Given the description of an element on the screen output the (x, y) to click on. 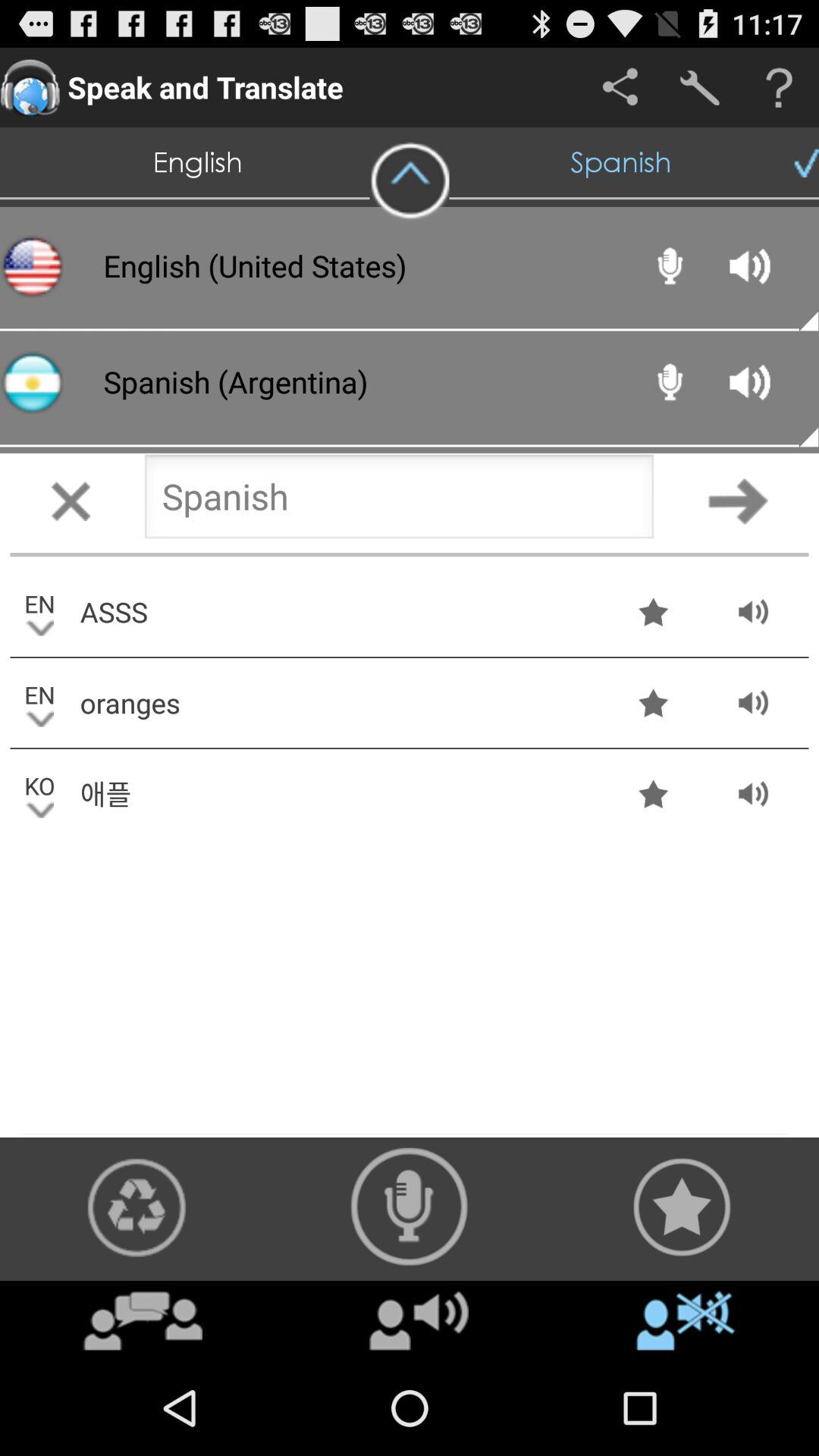
select translation language (399, 500)
